Given the description of an element on the screen output the (x, y) to click on. 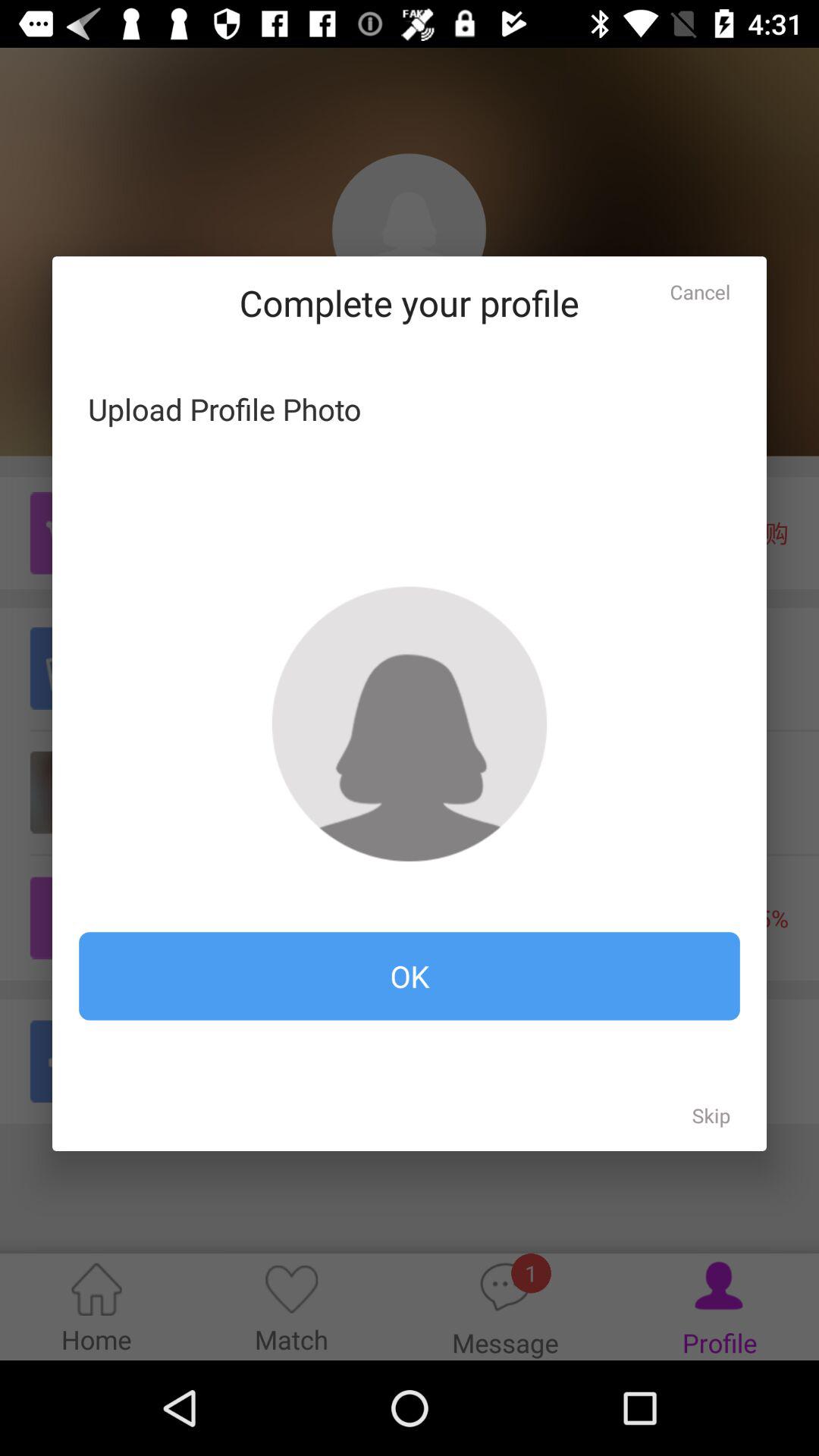
open item above the skip icon (409, 976)
